Given the description of an element on the screen output the (x, y) to click on. 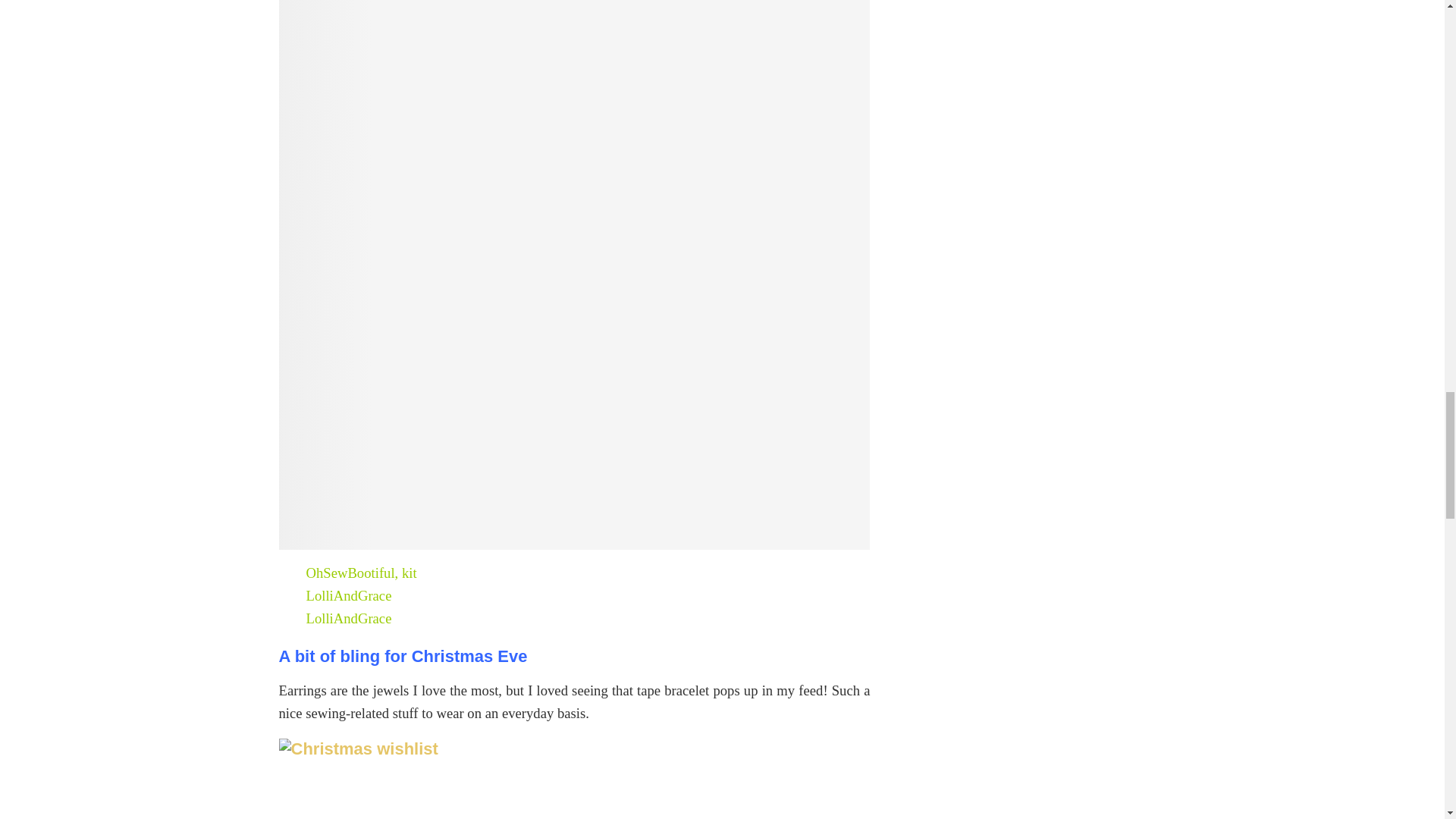
OhSewBootiful, kit (360, 573)
LolliAndGrace (348, 618)
LolliAndGrace (348, 595)
